Given the description of an element on the screen output the (x, y) to click on. 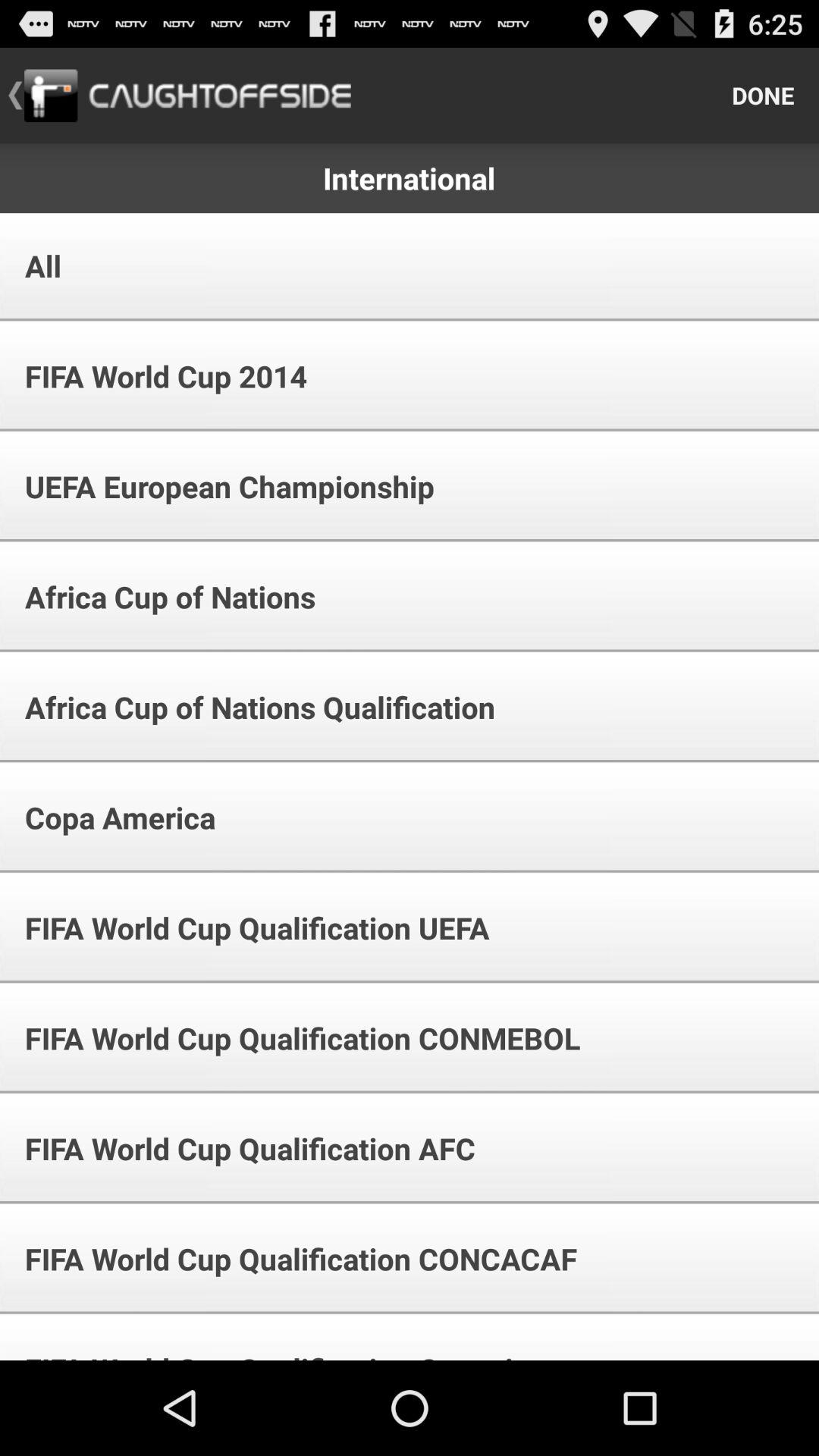
tap the done item (763, 95)
